Given the description of an element on the screen output the (x, y) to click on. 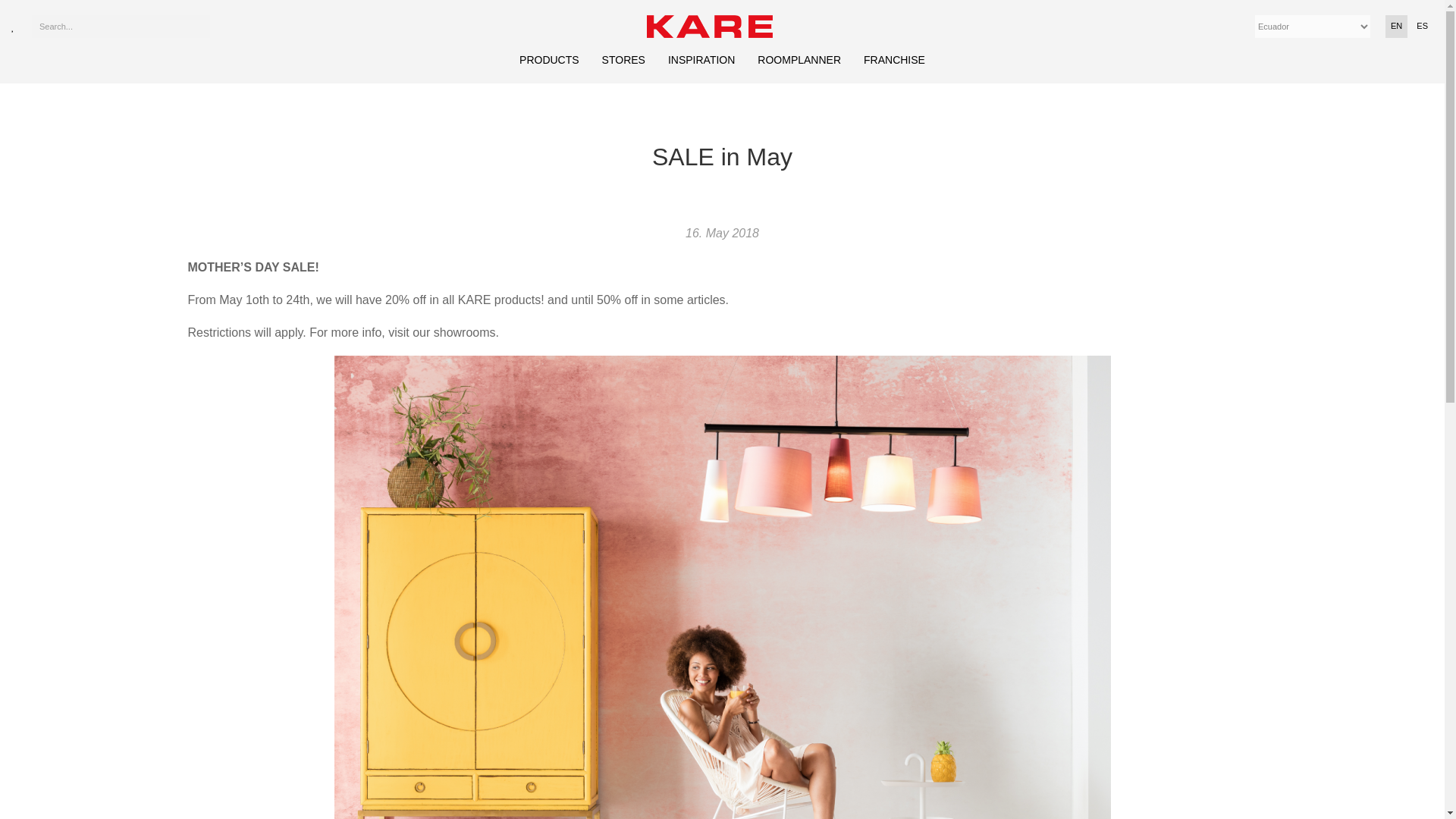
EN (1396, 26)
ES (1421, 26)
PRODUCTS (549, 60)
